Given the description of an element on the screen output the (x, y) to click on. 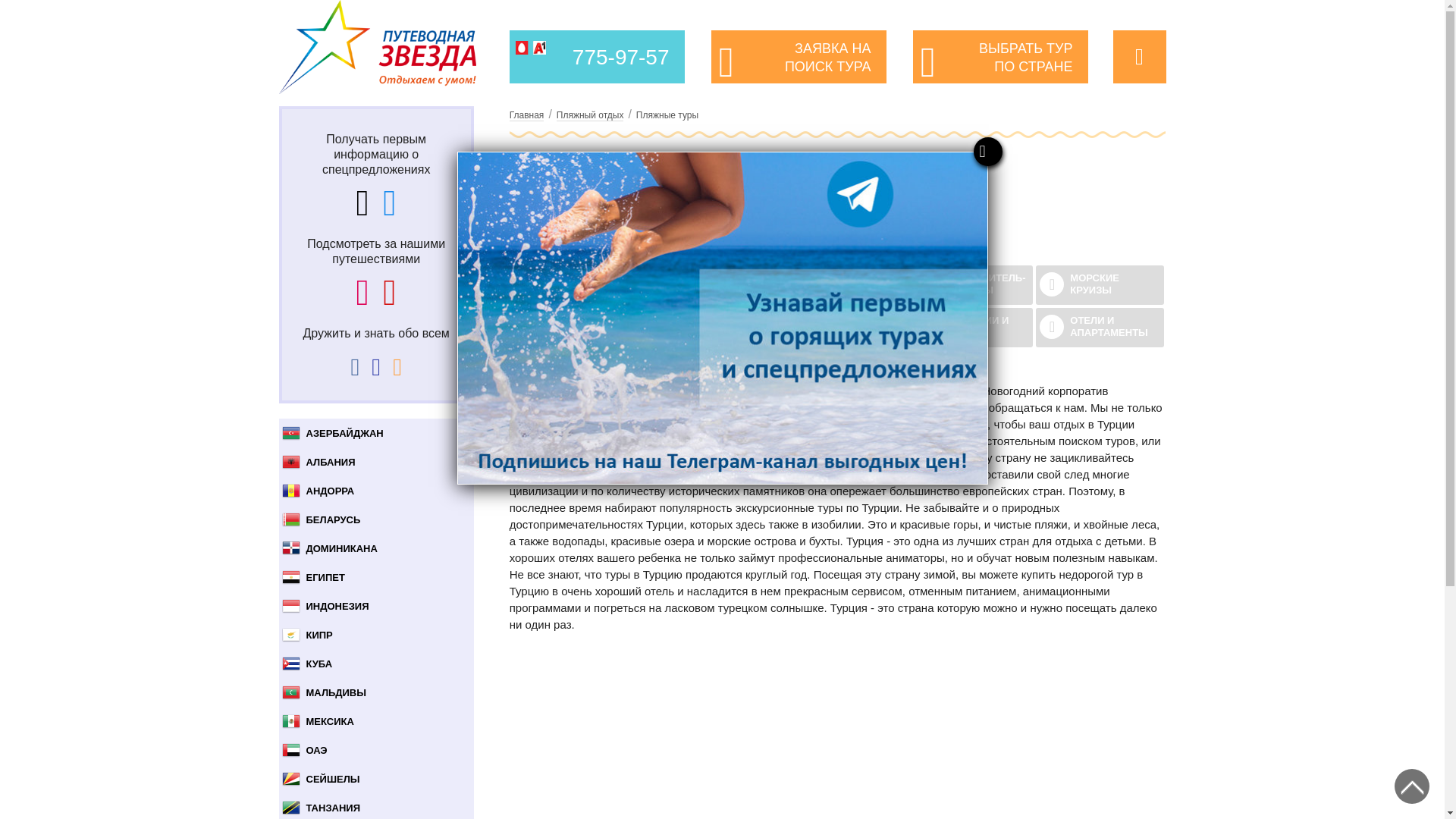
775-97-57 Element type: text (622, 57)
